Given the description of an element on the screen output the (x, y) to click on. 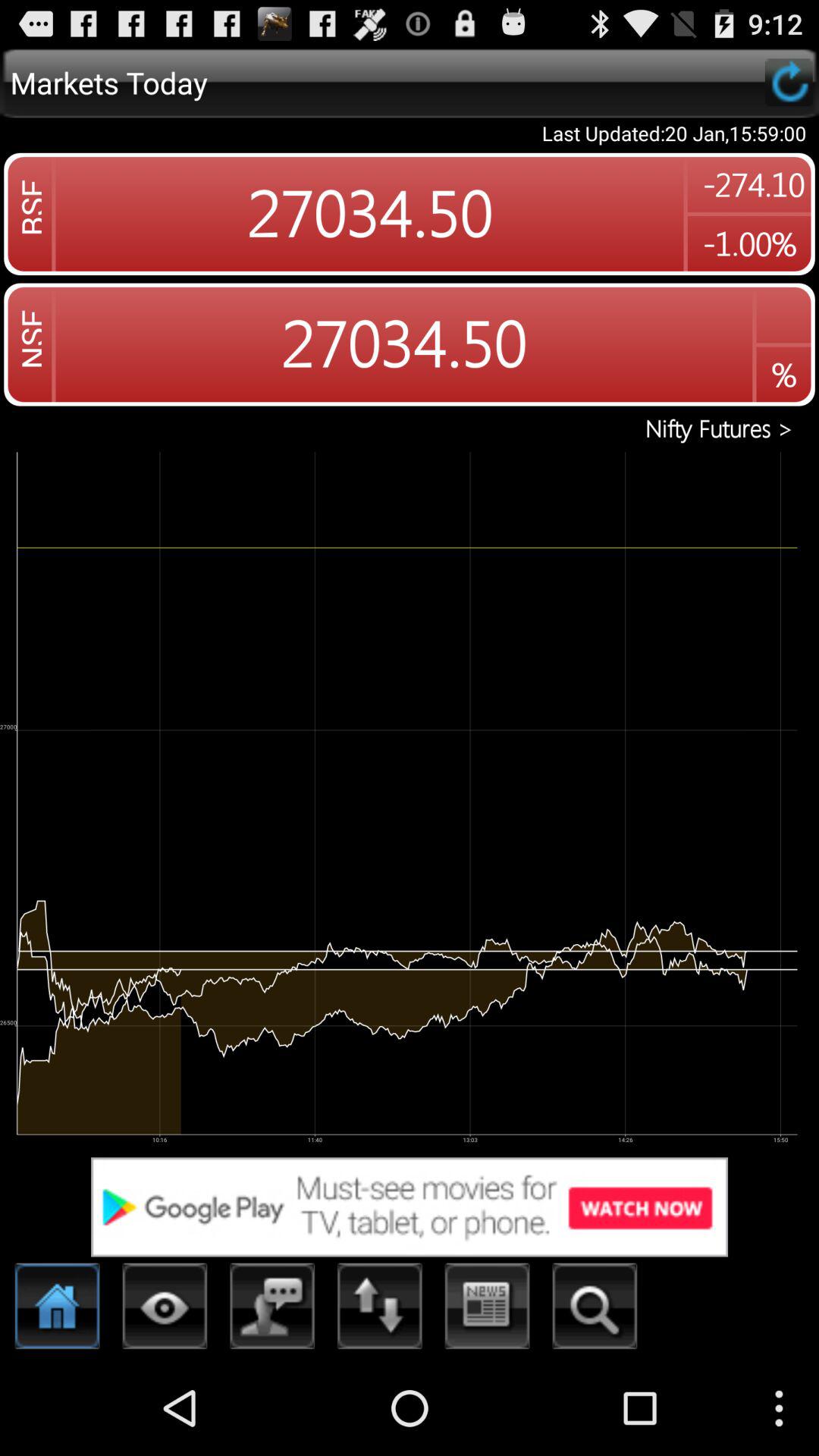
advertisement (409, 1206)
